Given the description of an element on the screen output the (x, y) to click on. 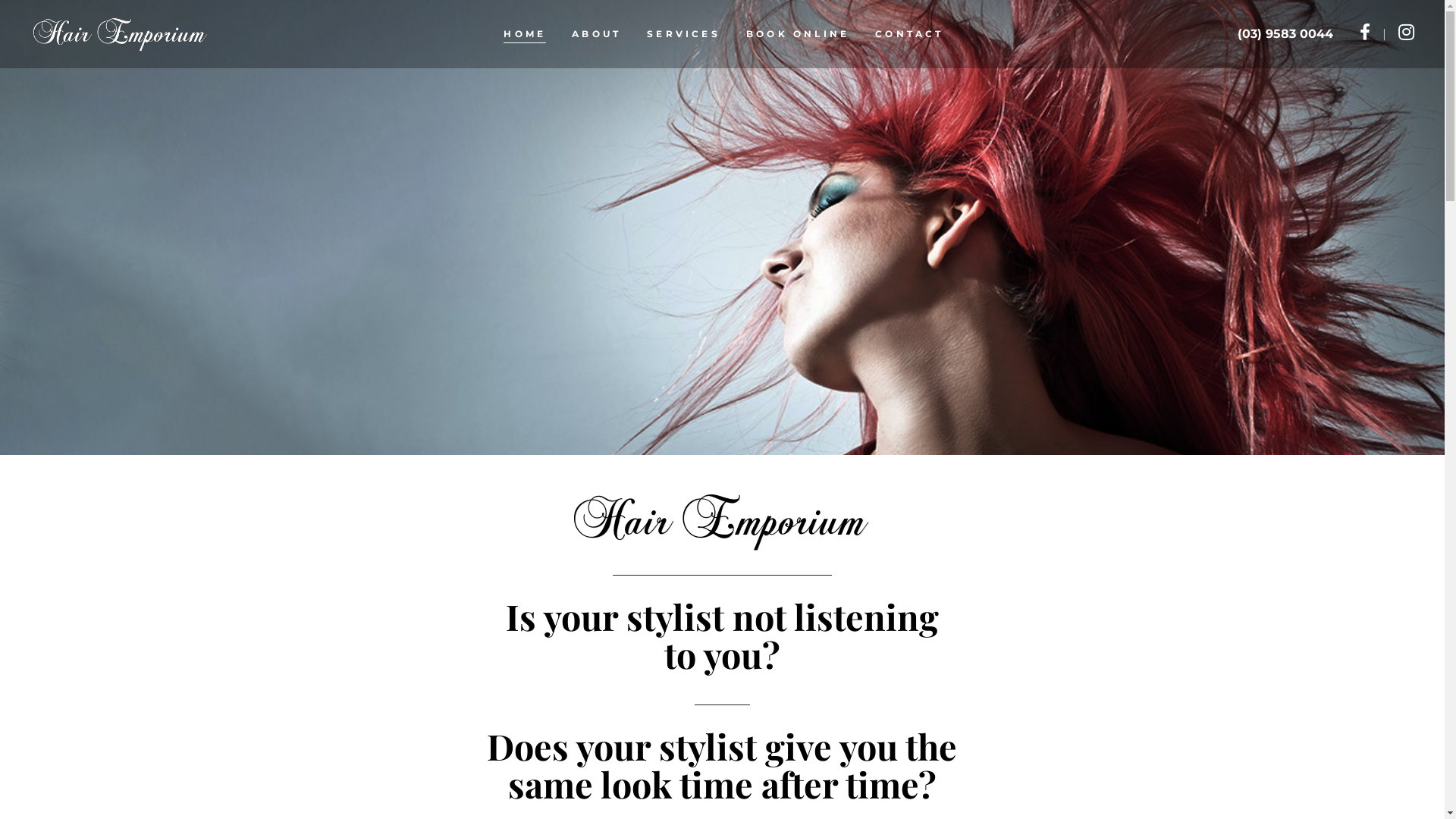
HOME Element type: text (524, 34)
BOOK ONLINE Element type: text (797, 34)
CONTACT Element type: text (909, 34)
SERVICES Element type: text (683, 34)
(03) 9583 0044 Element type: text (1285, 33)
ABOUT Element type: text (595, 34)
